Given the description of an element on the screen output the (x, y) to click on. 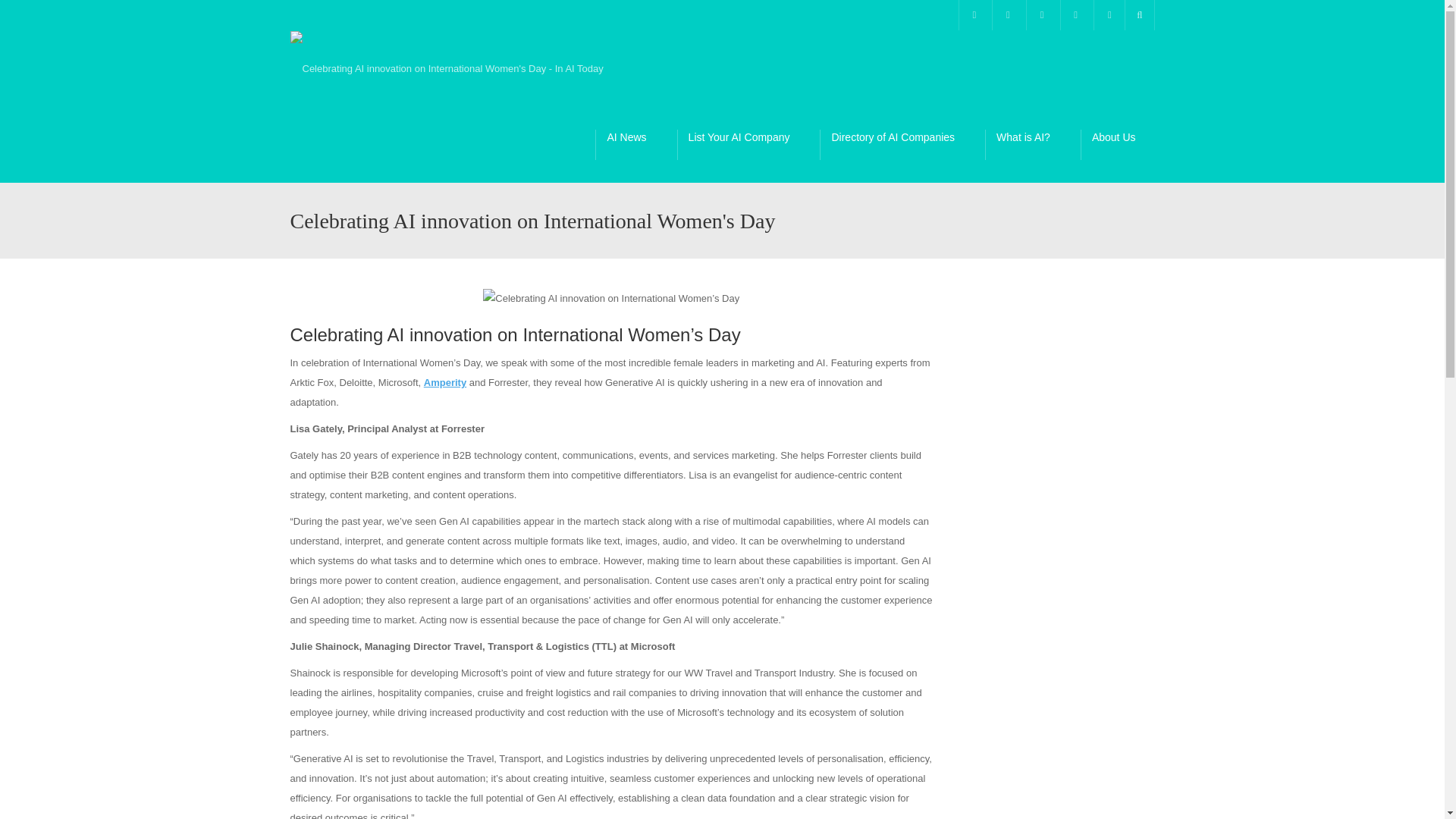
About Us (1123, 144)
Directory of AI Companies (902, 144)
List Your AI Company (749, 144)
Amperity (444, 382)
What is AI? (1032, 144)
AI News (636, 144)
